Given the description of an element on the screen output the (x, y) to click on. 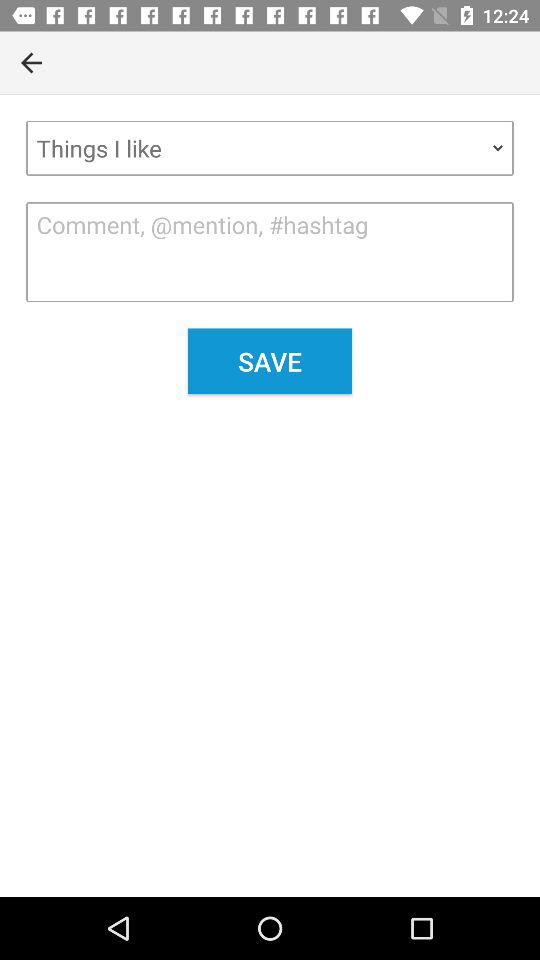
open things i like icon (269, 147)
